Given the description of an element on the screen output the (x, y) to click on. 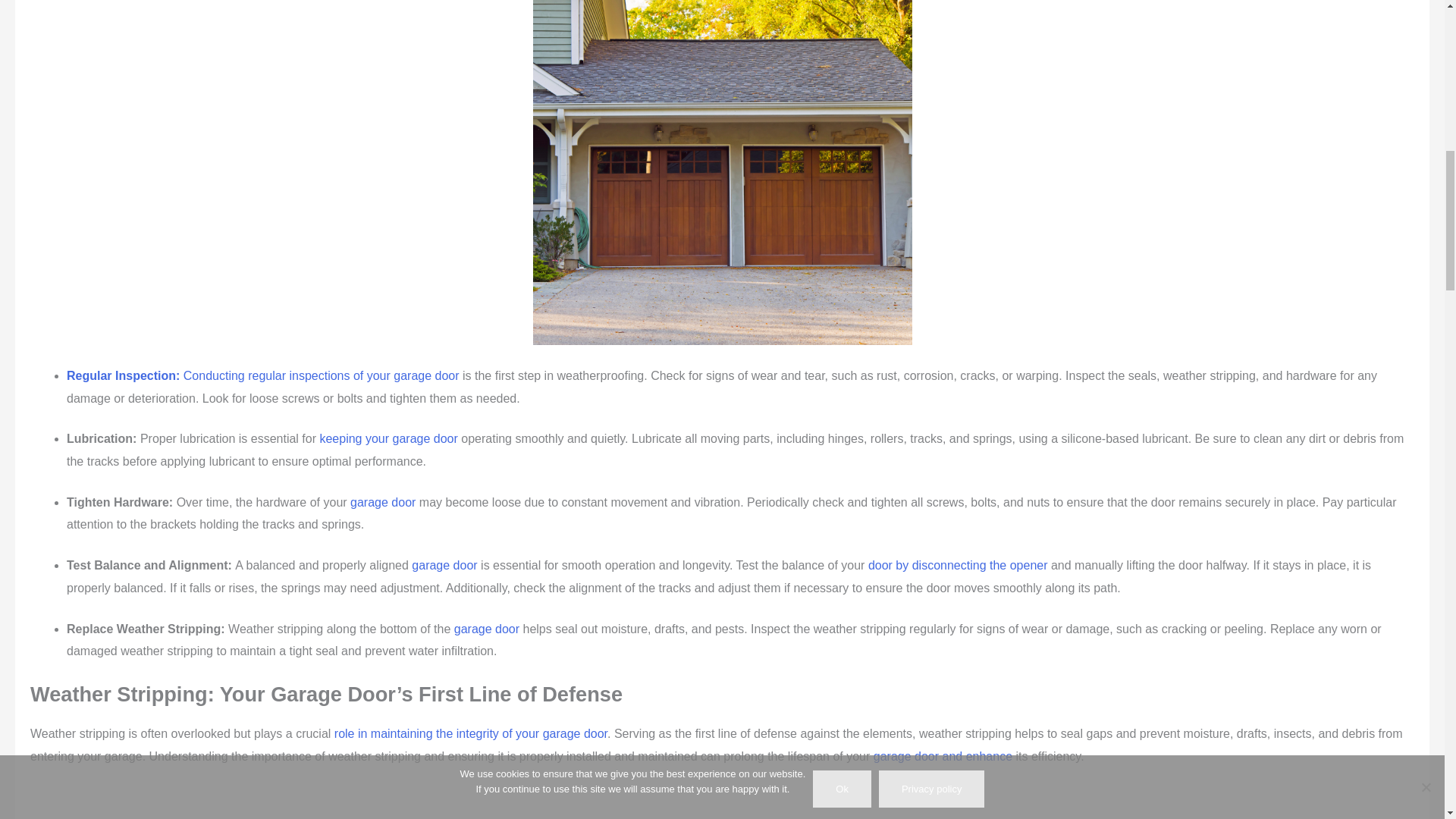
keeping your garage door (387, 438)
door by disconnecting the opener (957, 564)
garage door (444, 564)
garage door (382, 502)
